Given the description of an element on the screen output the (x, y) to click on. 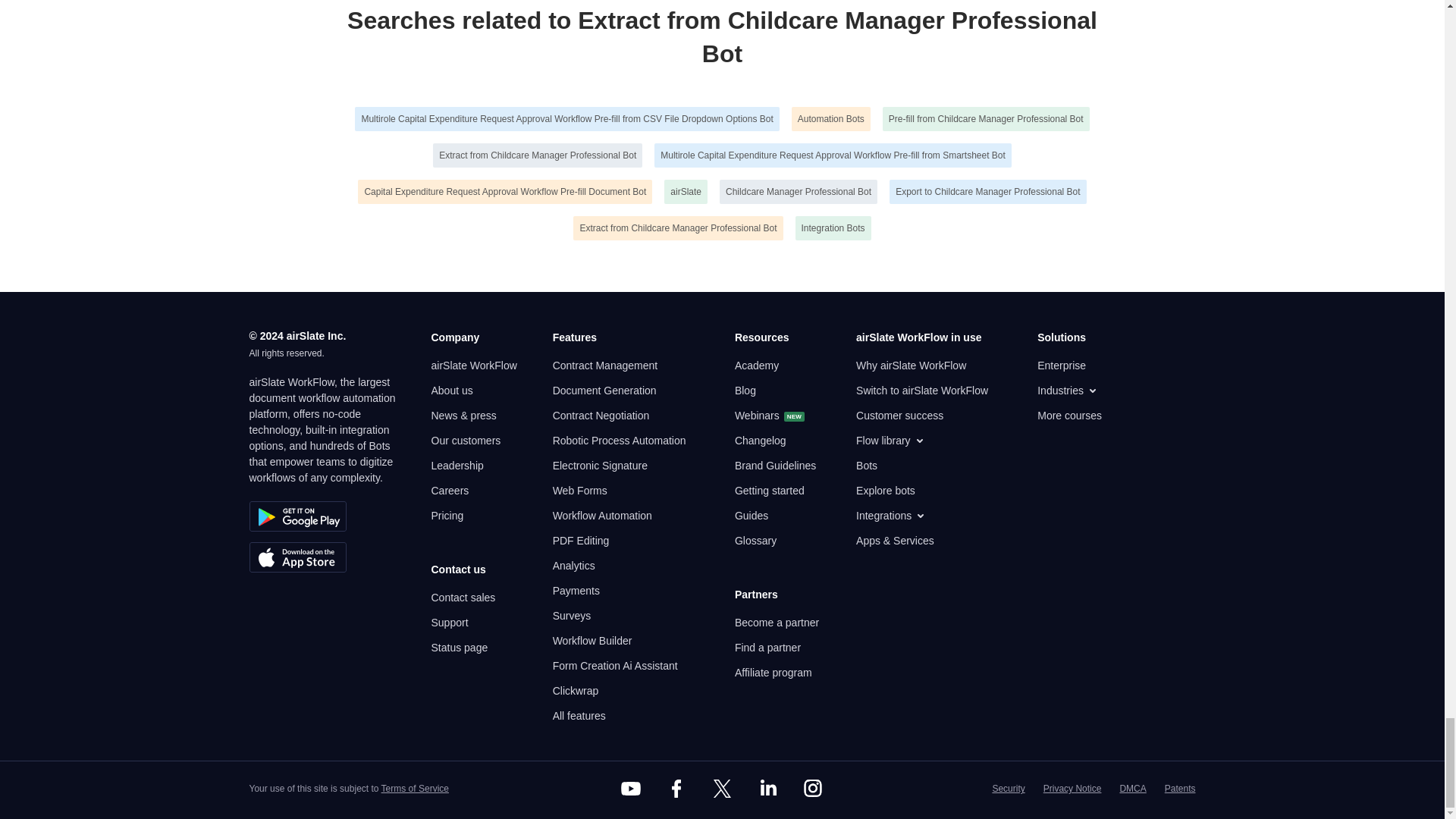
Twitter (721, 788)
YouTube (630, 788)
Facebook (676, 788)
LinkedIn (767, 788)
Instagram (812, 788)
